Given the description of an element on the screen output the (x, y) to click on. 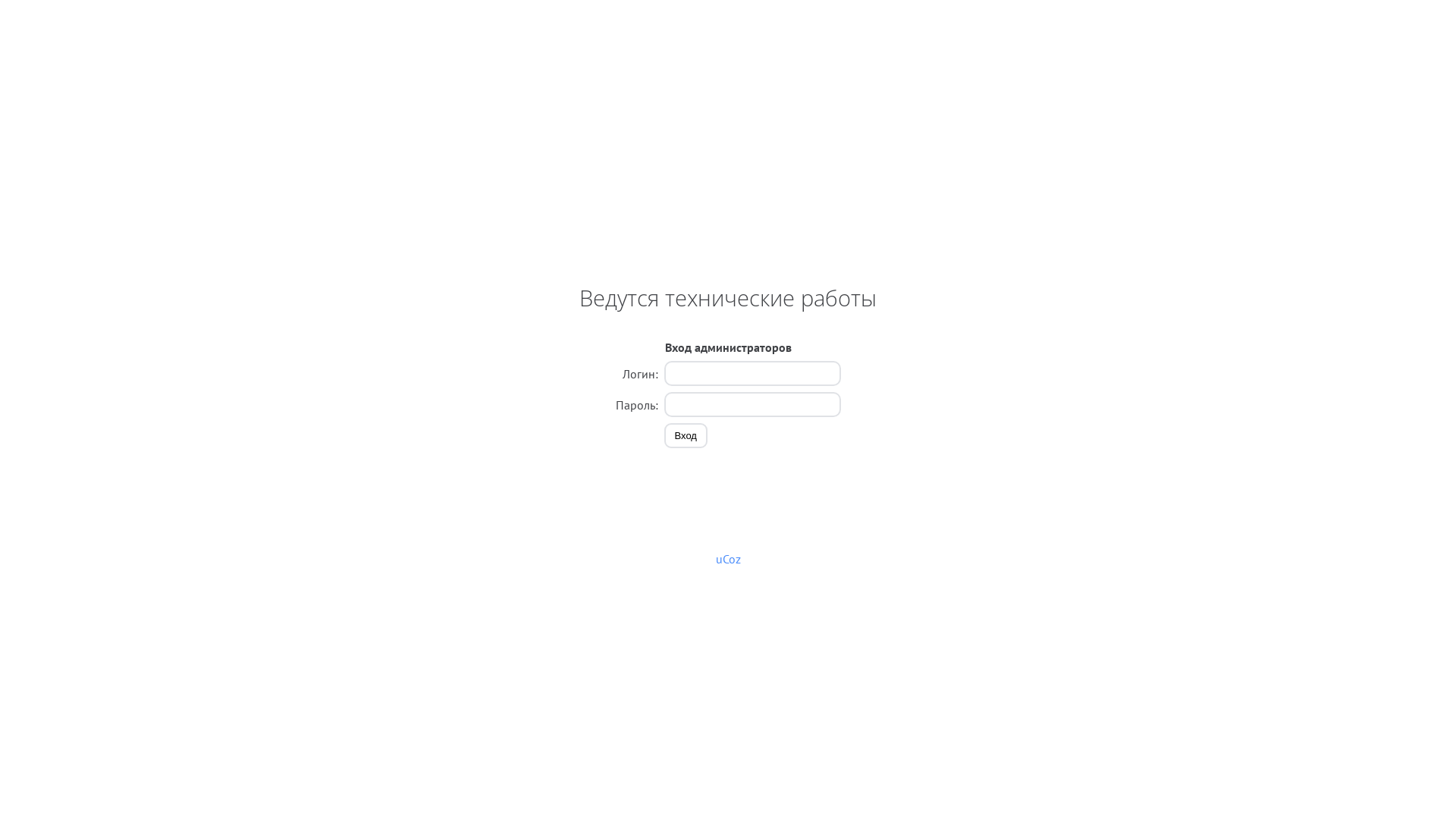
uCoz Element type: text (727, 558)
